Given the description of an element on the screen output the (x, y) to click on. 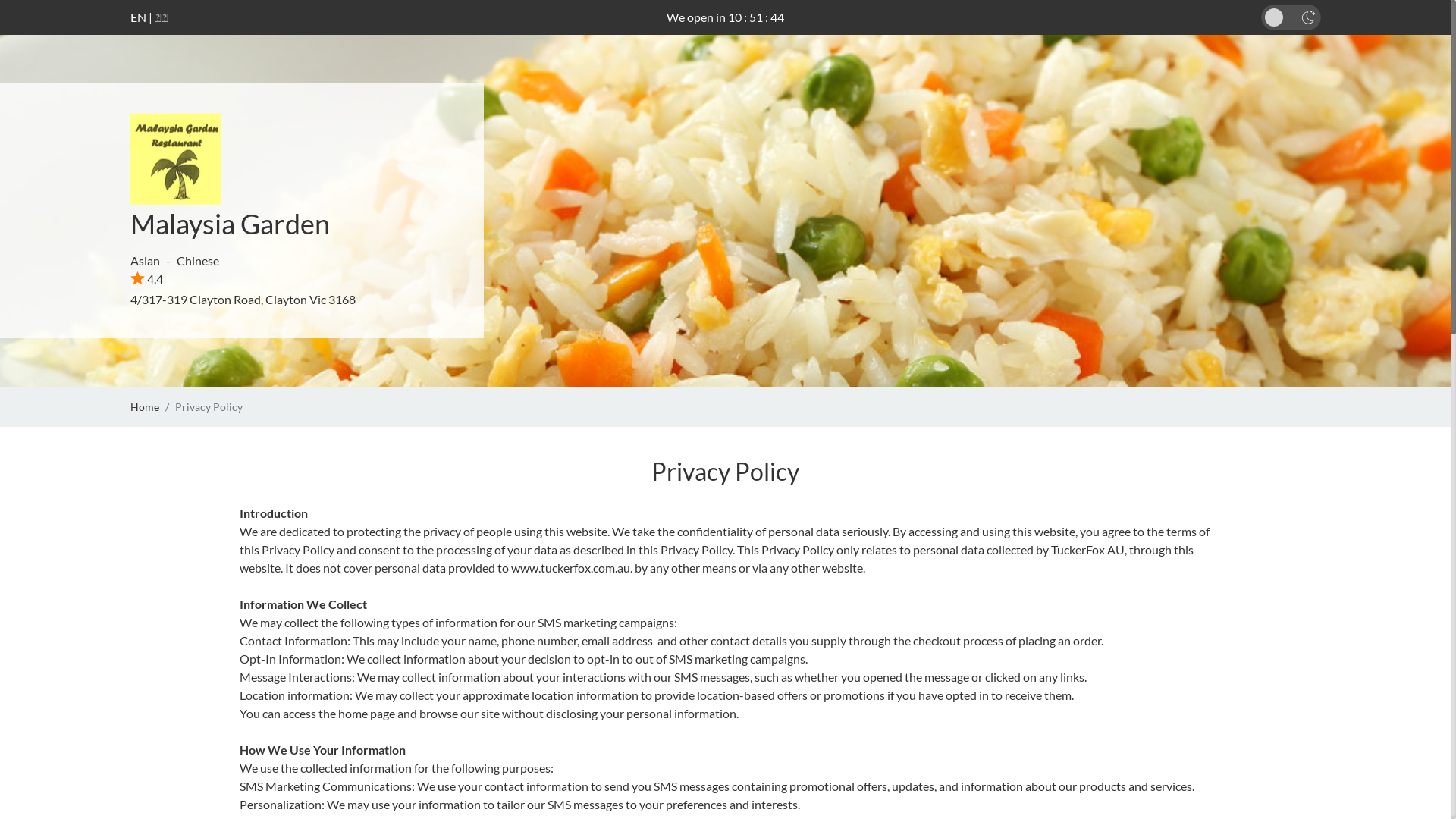
4.4 Element type: text (146, 278)
Home Element type: text (144, 406)
EN Element type: text (138, 16)
Malaysia Garden Element type: text (229, 223)
